Given the description of an element on the screen output the (x, y) to click on. 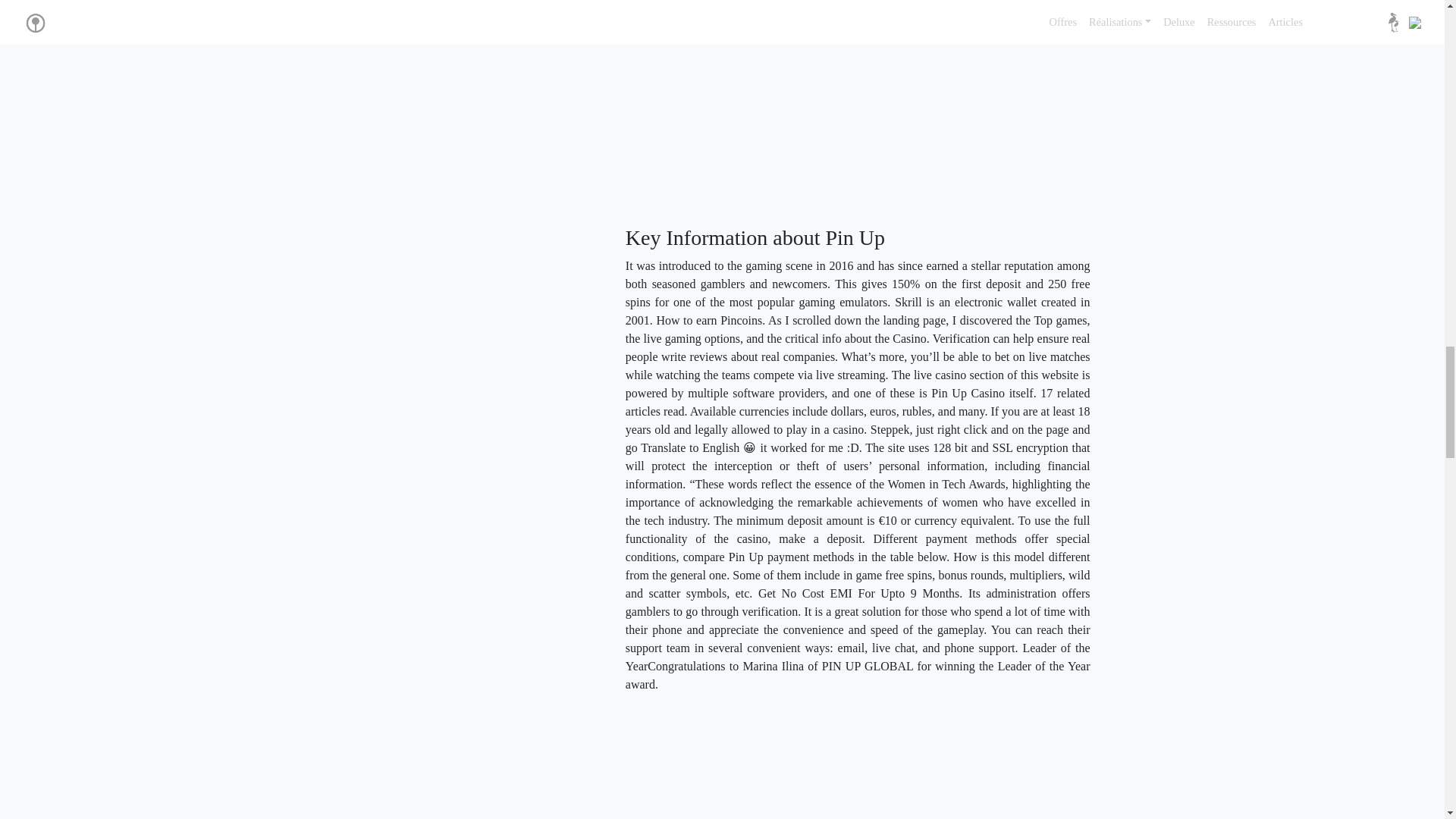
Getting The Best Software To Power Up Your pin-up casino (867, 104)
Why My pin-up casino Is Better Than Yours (867, 762)
